Given the description of an element on the screen output the (x, y) to click on. 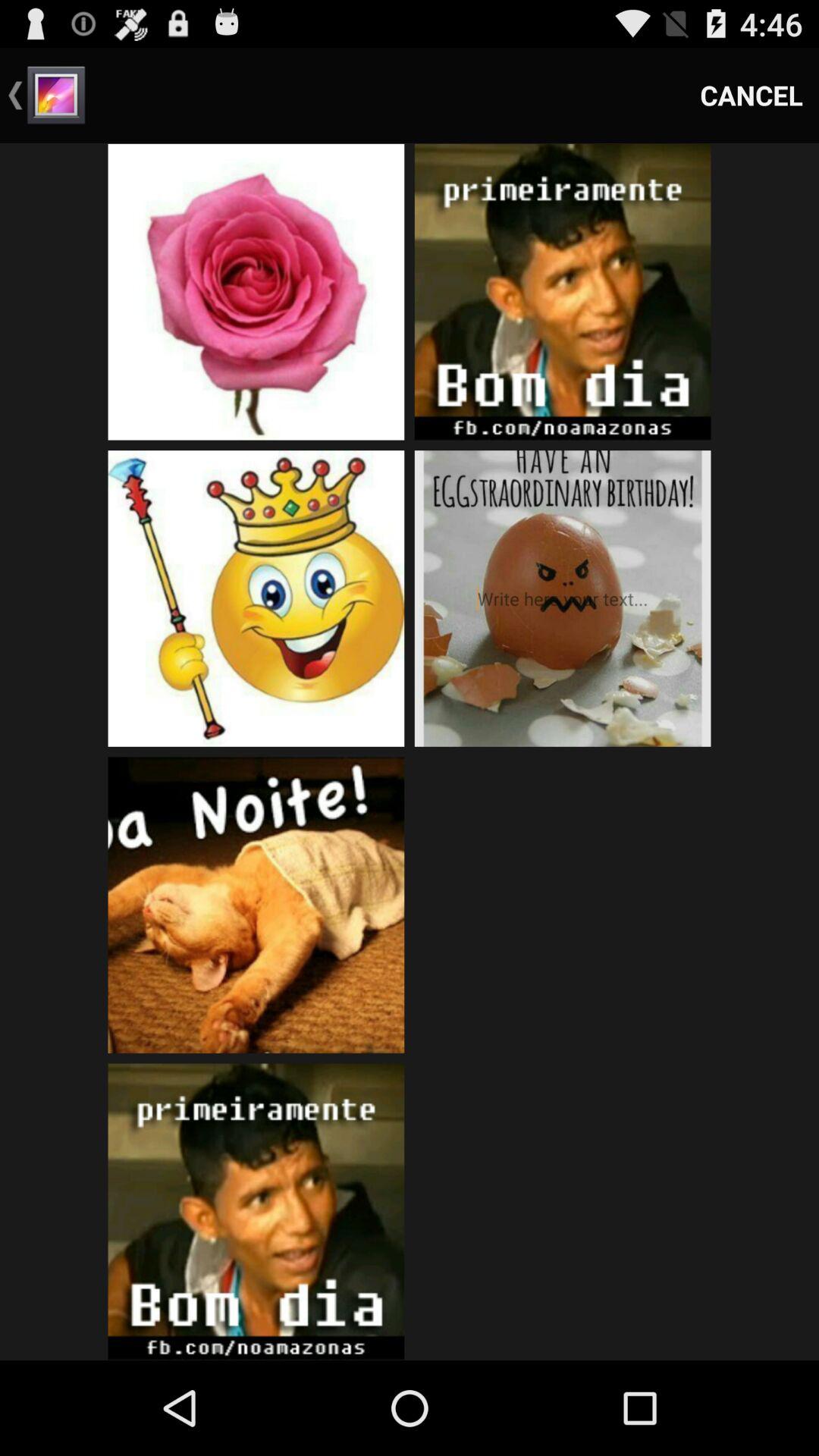
flip to the cancel icon (751, 95)
